Given the description of an element on the screen output the (x, y) to click on. 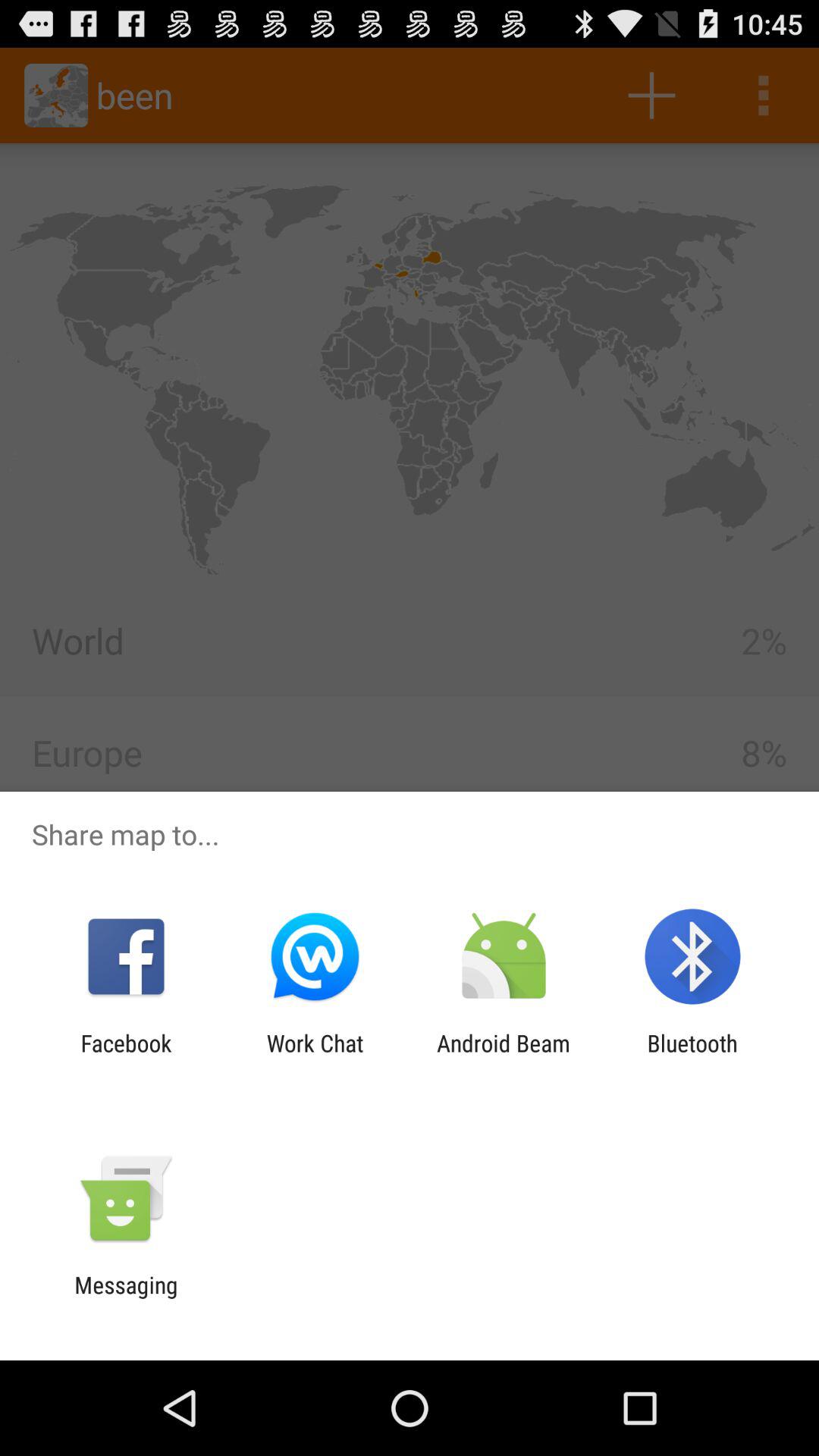
flip until bluetooth icon (692, 1056)
